Given the description of an element on the screen output the (x, y) to click on. 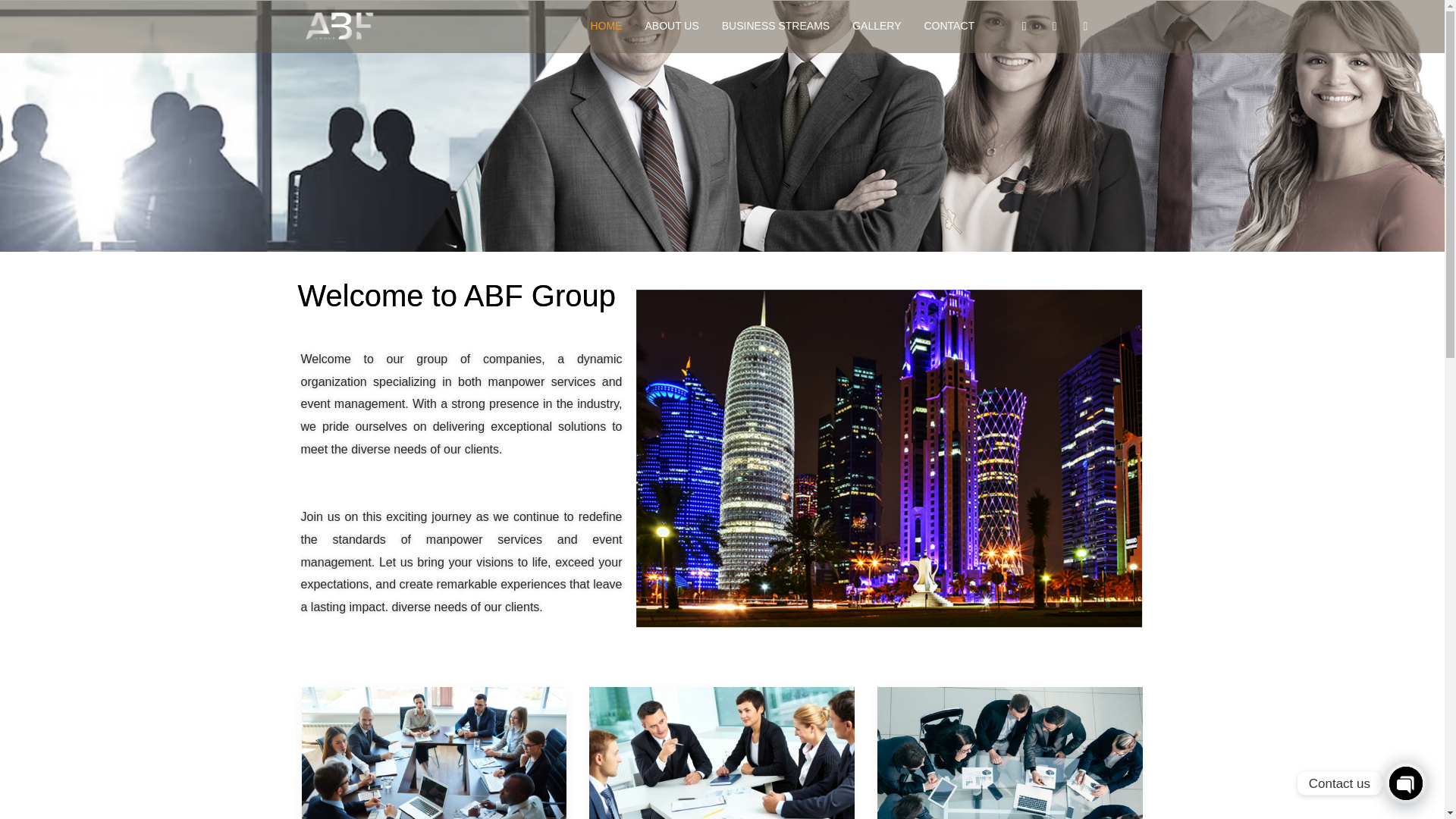
ABOUT US (671, 26)
HOME (605, 26)
CONTACT (949, 26)
GALLERY (876, 26)
ABFgroup logo (339, 26)
BUSINESS STREAMS (775, 26)
